Given the description of an element on the screen output the (x, y) to click on. 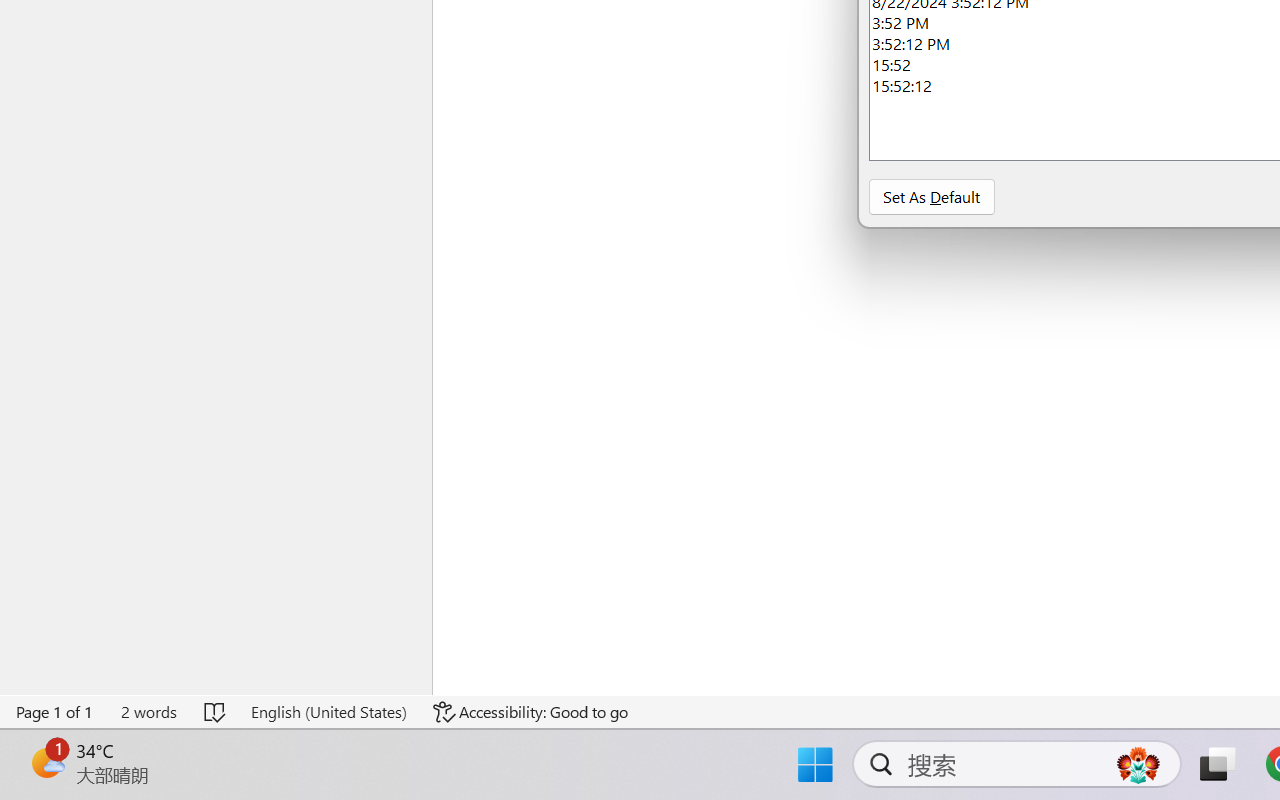
Accessibility Checker Accessibility: Good to go (397, 743)
